Given the description of an element on the screen output the (x, y) to click on. 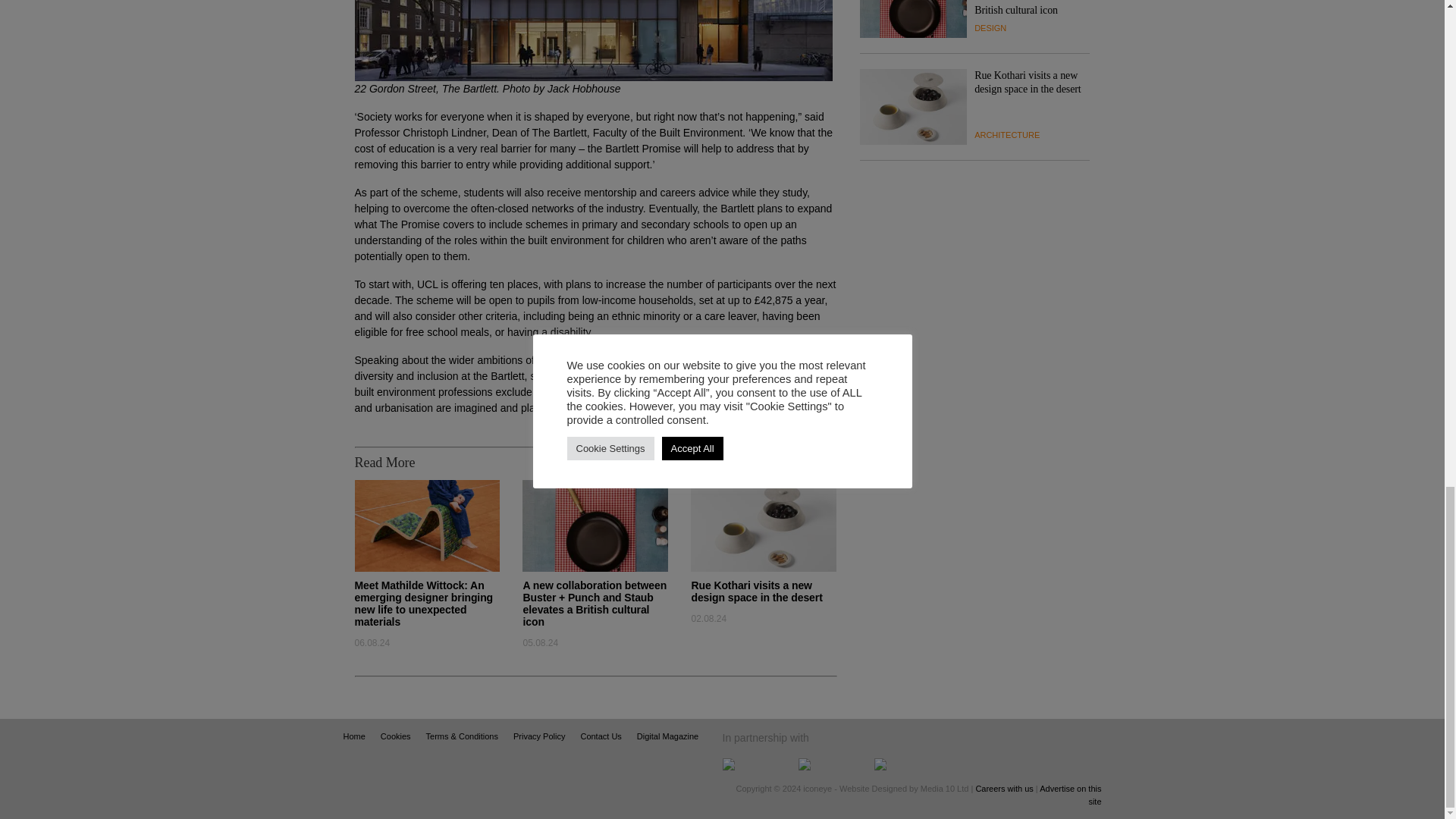
Rue Kothari visits a new design space in the desert (756, 591)
